Given the description of an element on the screen output the (x, y) to click on. 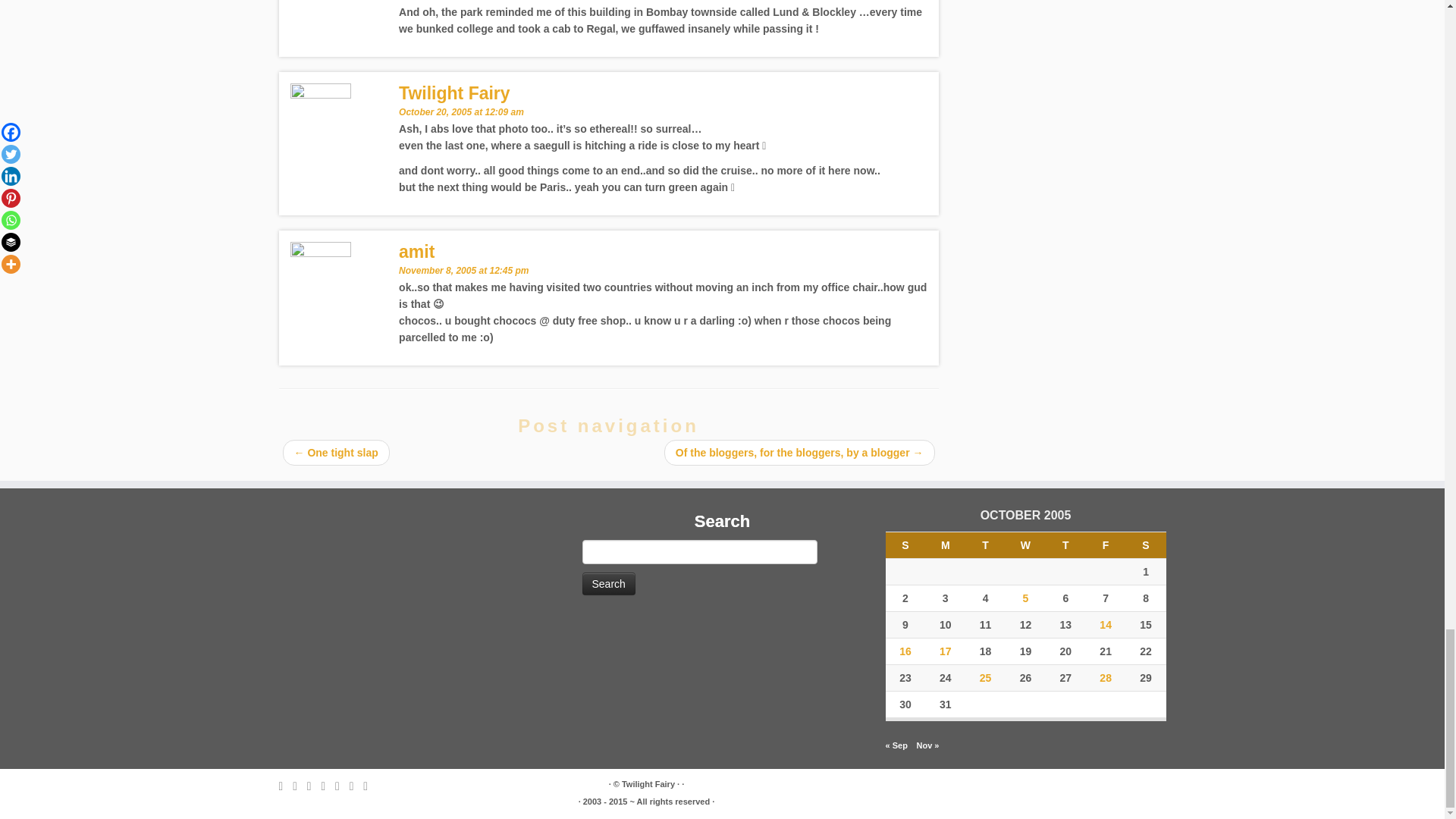
Search (608, 583)
